Given the description of an element on the screen output the (x, y) to click on. 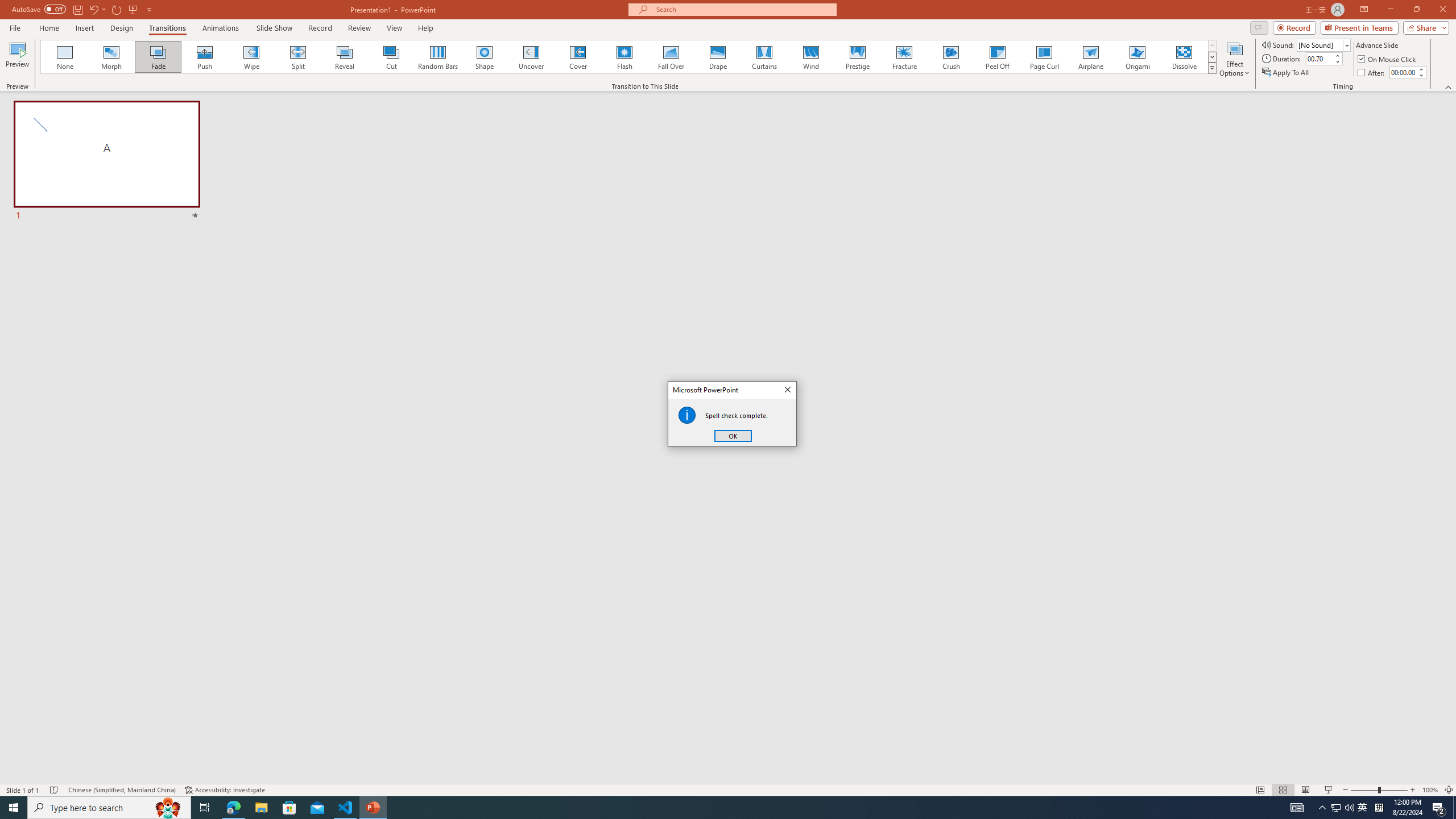
Fall Over (670, 56)
Cover (577, 56)
Apply To All (1286, 72)
Duration (1319, 58)
Slide A (106, 161)
Prestige (857, 56)
